Given the description of an element on the screen output the (x, y) to click on. 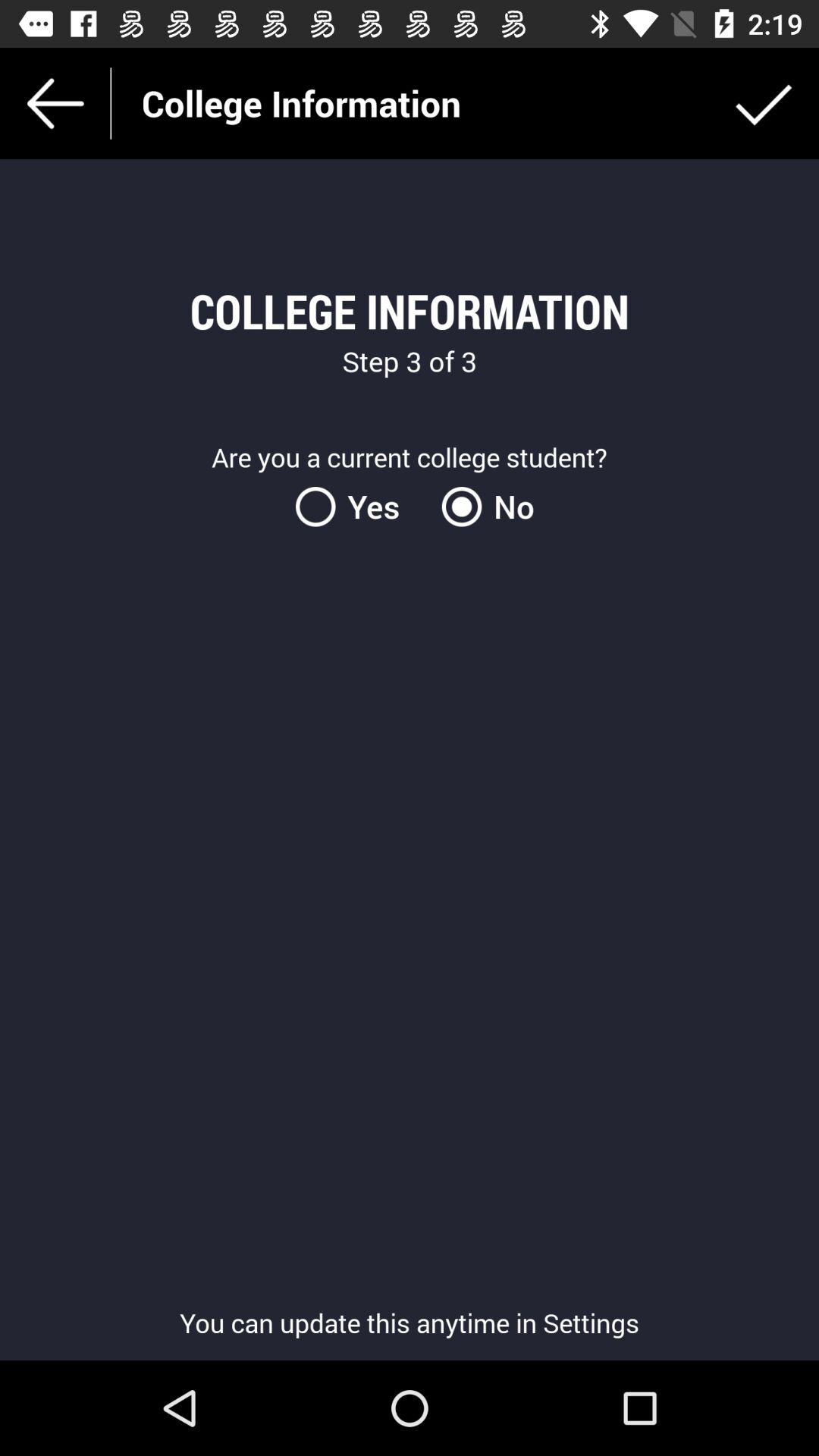
press item above the you can update item (356, 506)
